Given the description of an element on the screen output the (x, y) to click on. 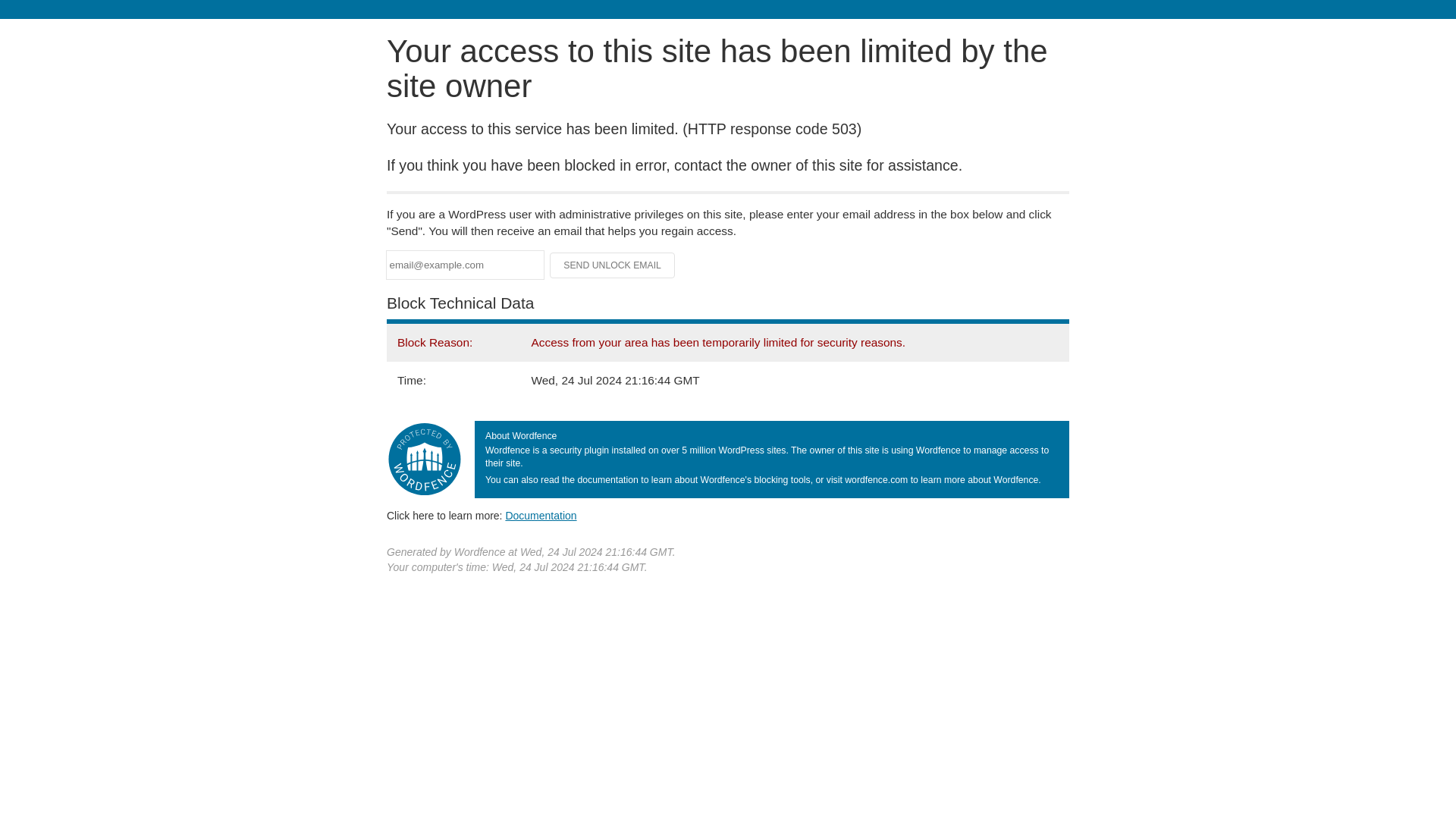
Send Unlock Email (612, 265)
Documentation (540, 515)
Send Unlock Email (612, 265)
